Given the description of an element on the screen output the (x, y) to click on. 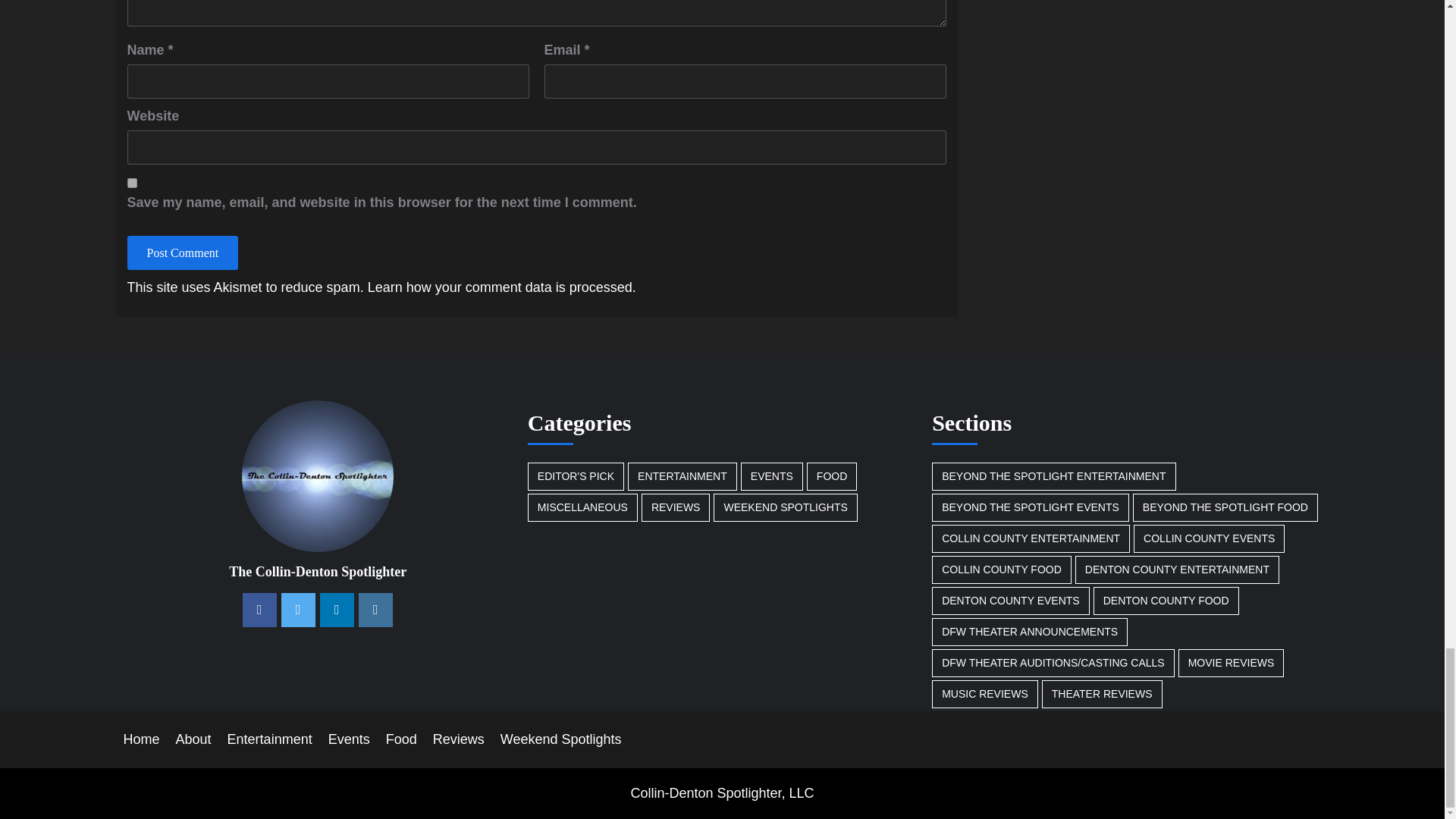
Post Comment (183, 252)
yes (132, 183)
